Given the description of an element on the screen output the (x, y) to click on. 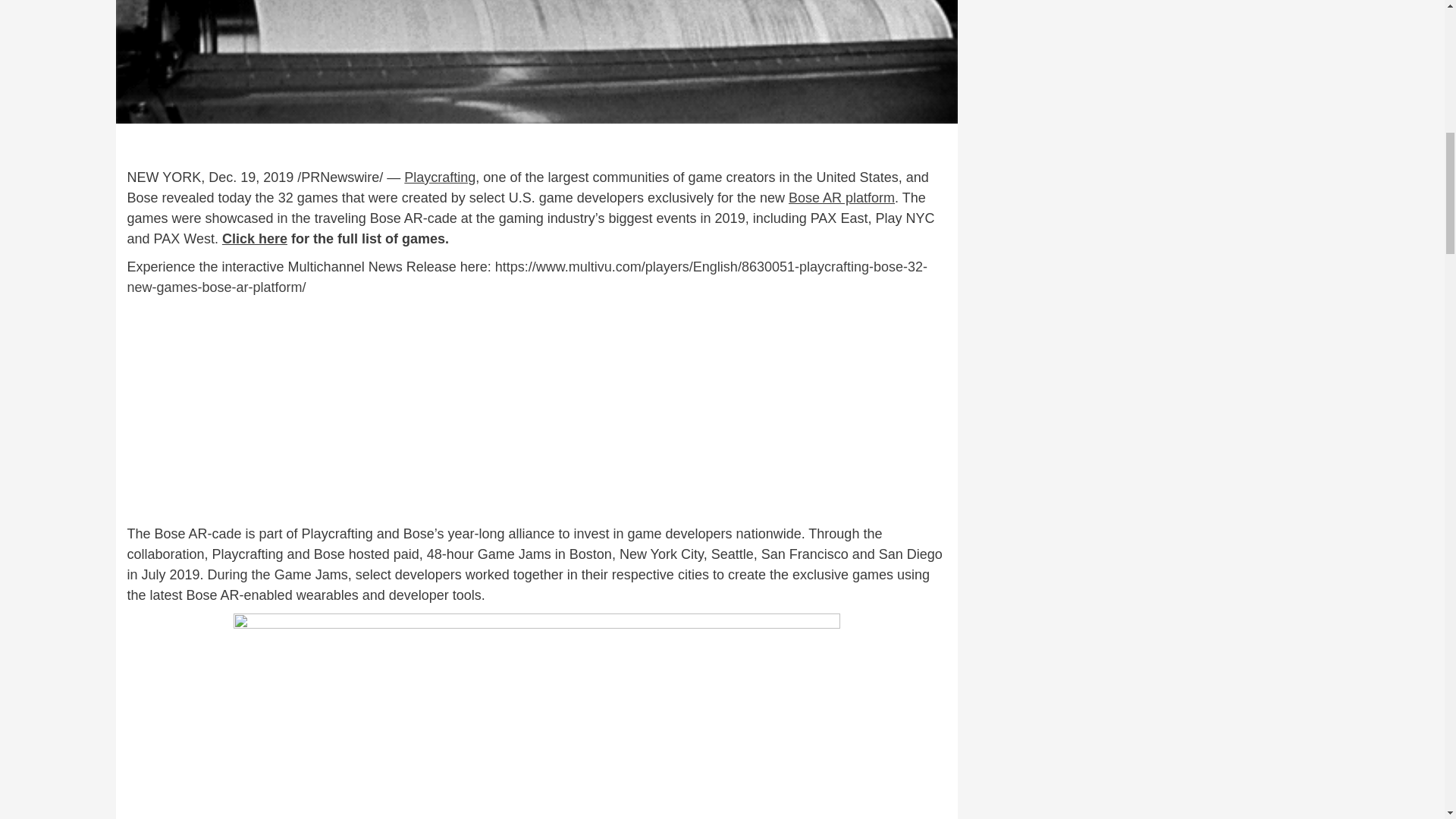
Click here (254, 238)
Bose AR platform (842, 197)
Playcrafting (440, 177)
